Given the description of an element on the screen output the (x, y) to click on. 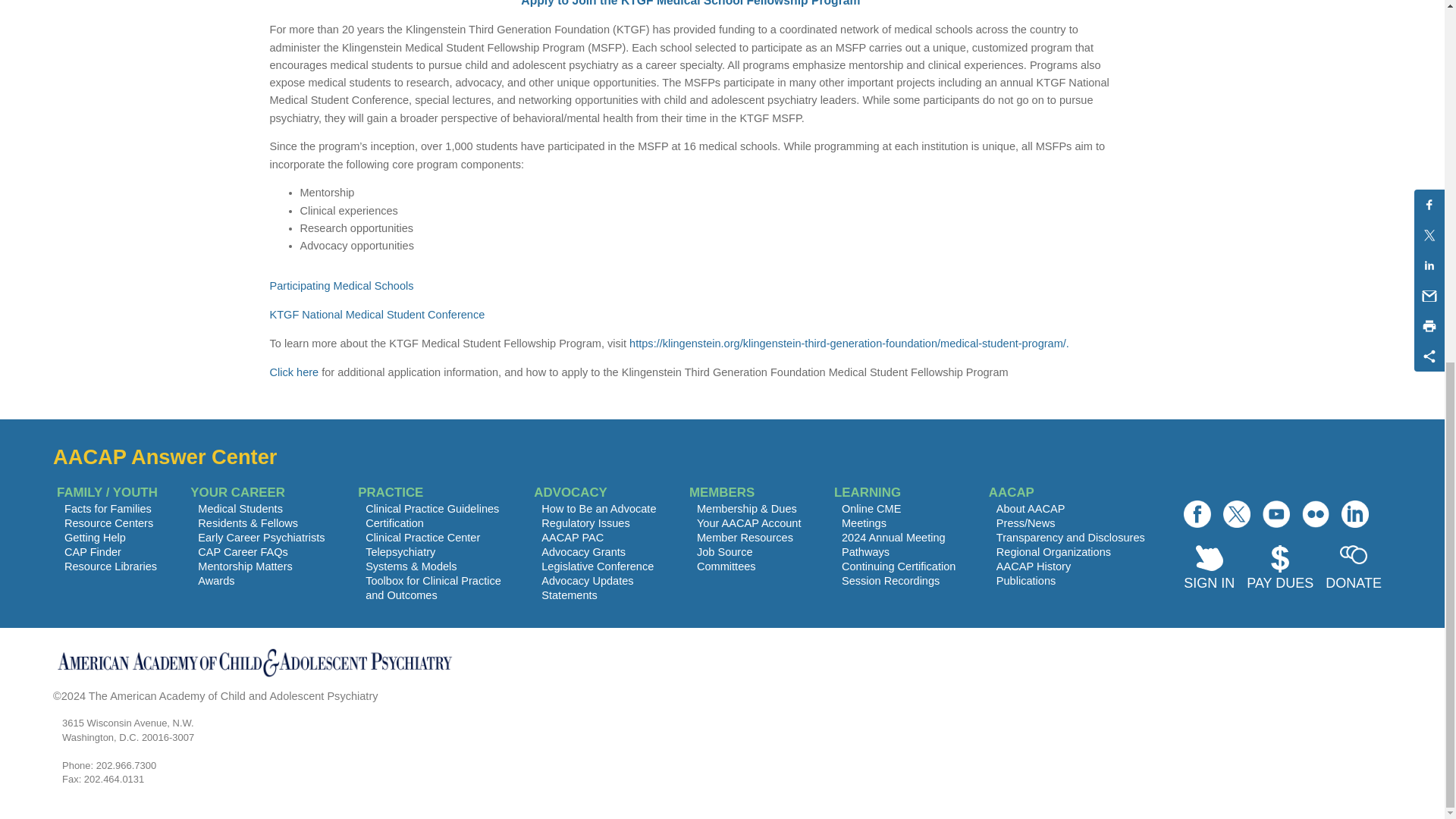
Pay Dues (1279, 569)
CME (583, 551)
Flickr (1315, 513)
Follow Us on LinkedIn (1354, 513)
Donate (1352, 569)
Sign In (1208, 569)
Follow us on Facebook! (1197, 513)
Subscribe to us on YouTube! (1276, 513)
Follow us on Twitter! (1236, 513)
